Given the description of an element on the screen output the (x, y) to click on. 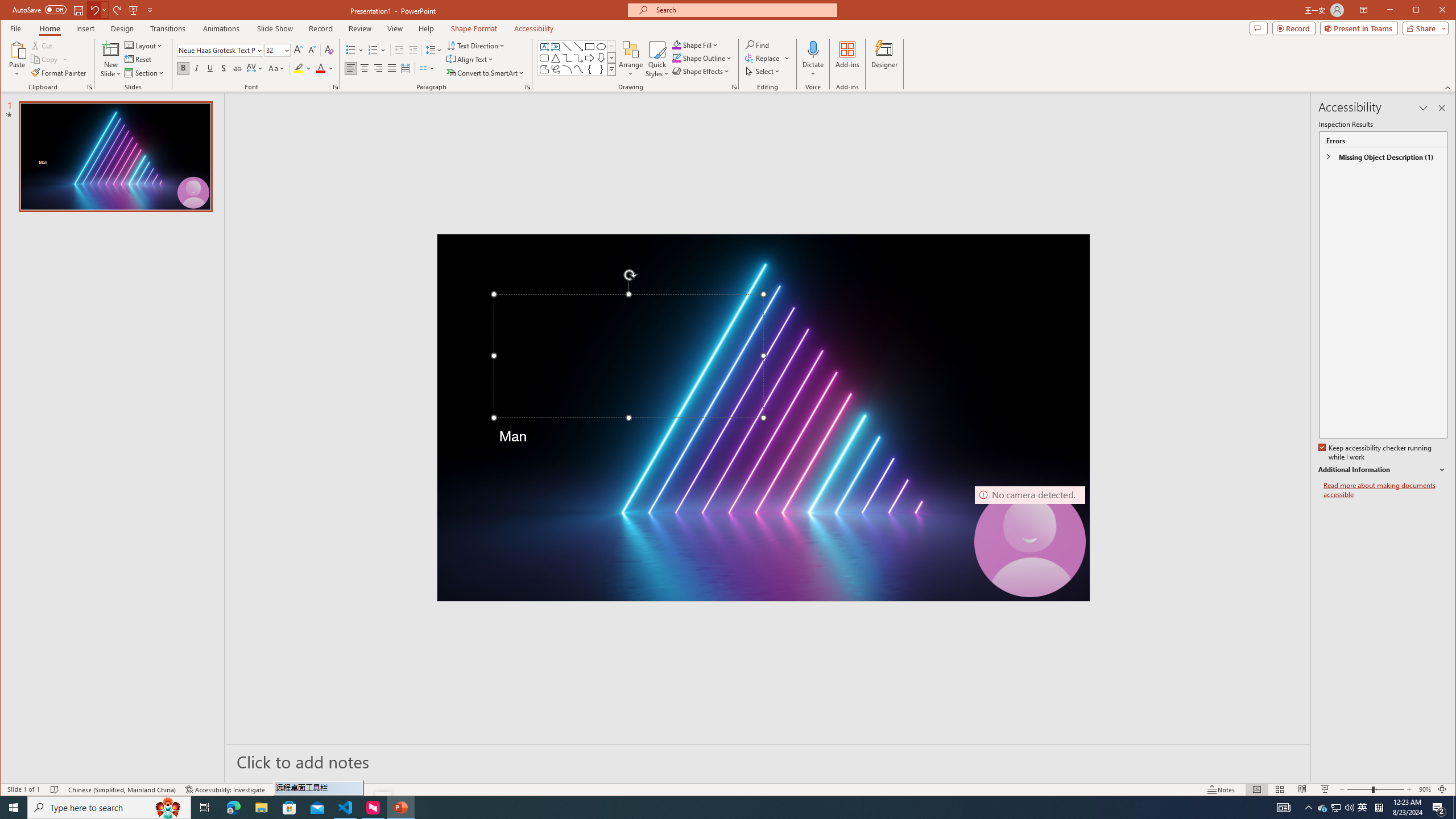
Shape Fill Orange, Accent 2 (676, 44)
Microsoft Edge (233, 807)
Shapes (611, 69)
Start (13, 807)
Shadow (224, 68)
Bold (182, 68)
Keep accessibility checker running while I work (1375, 452)
Change Case (276, 68)
Class: MsoCommandBar (728, 789)
Neon laser lights aligned to form a triangle (762, 417)
Shape Effects (702, 70)
